Given the description of an element on the screen output the (x, y) to click on. 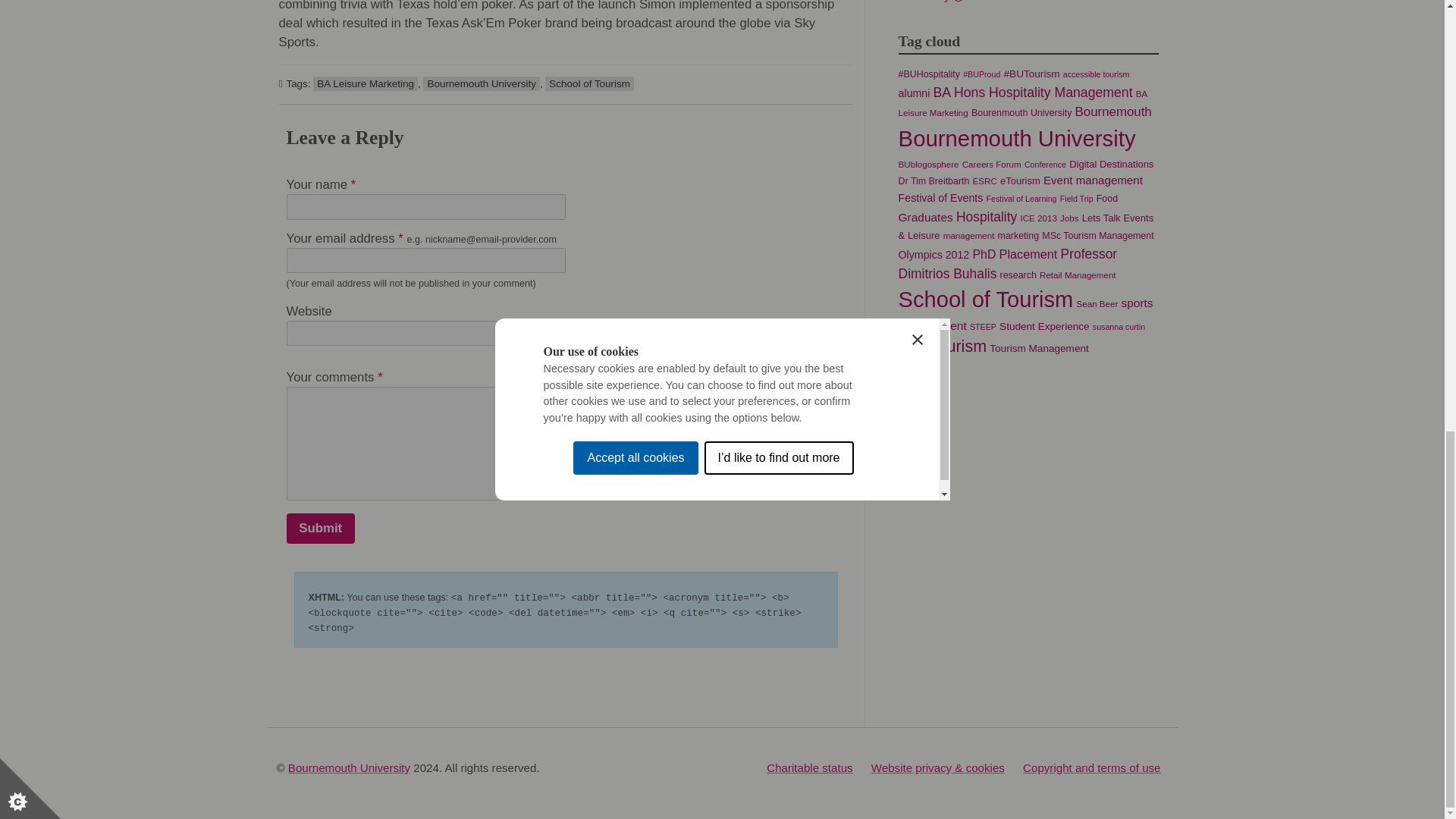
BUblogosphere (928, 163)
Bournemouth University homepage (349, 767)
BA Leisure Marketing (365, 83)
BA Leisure Marketing (1022, 102)
alumni (914, 92)
Conference (1045, 163)
Dr Tim Breitbarth (933, 181)
Bournemouth University (480, 83)
Digital Destinations (1110, 163)
Bournemouth (1113, 111)
Submit (320, 528)
School of Tourism (588, 83)
BA Hons Hospitality Management (1032, 92)
Bournemouth University (1016, 138)
Submit (320, 528)
